Given the description of an element on the screen output the (x, y) to click on. 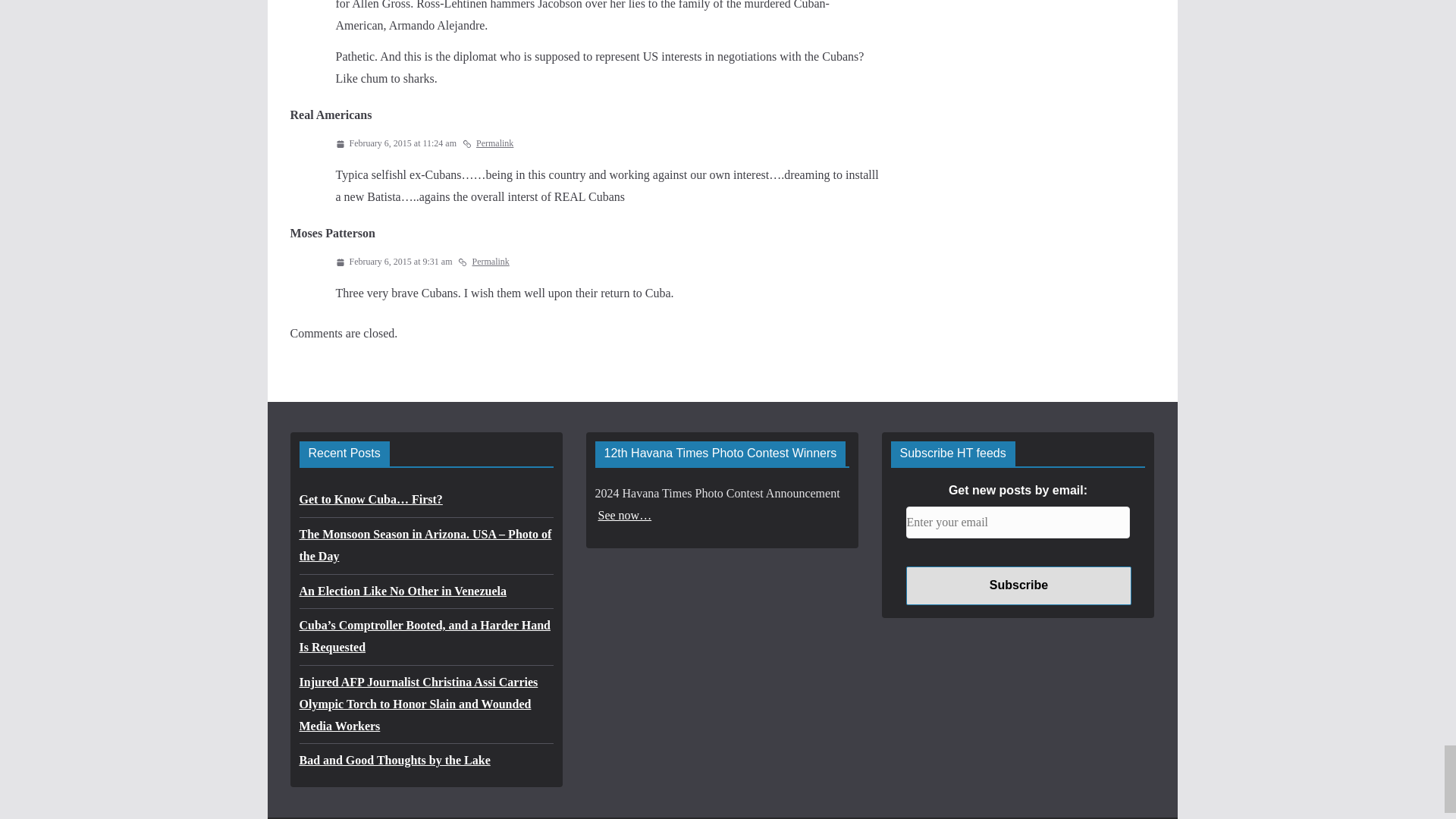
Subscribe (1018, 585)
